Given the description of an element on the screen output the (x, y) to click on. 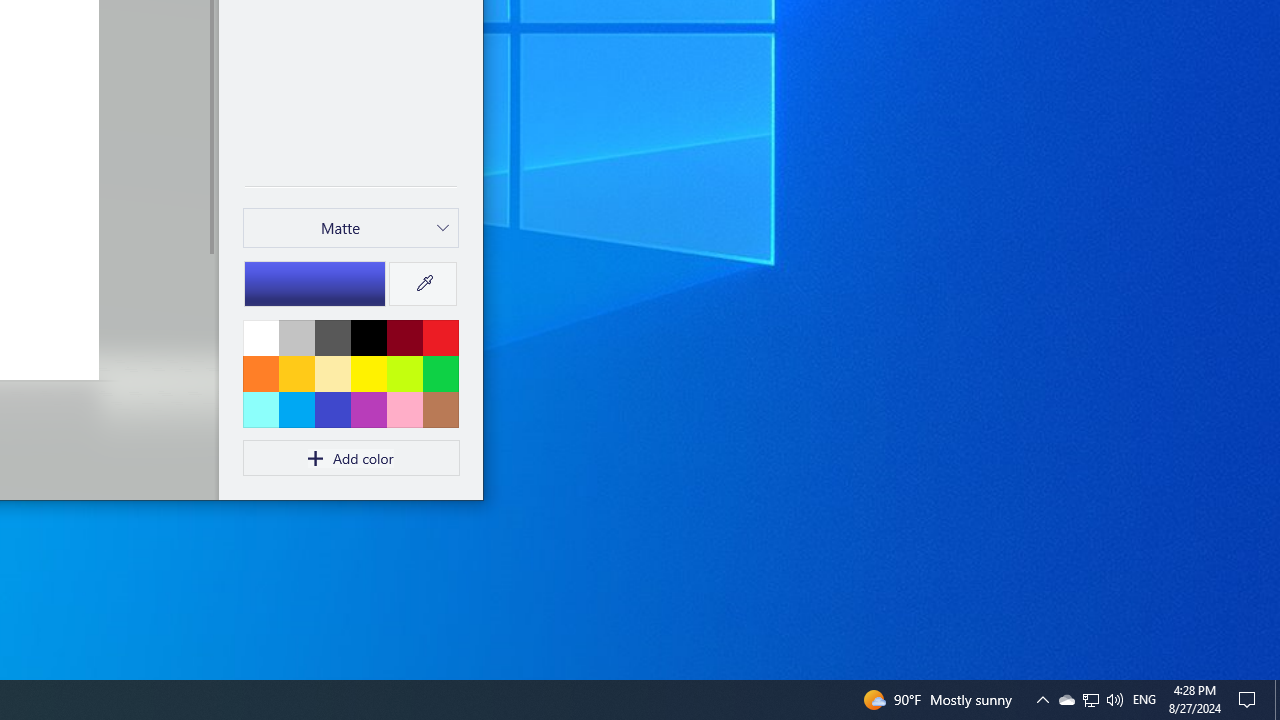
Light grey (296, 337)
Choose a material (351, 227)
Current color: (315, 283)
